Given the description of an element on the screen output the (x, y) to click on. 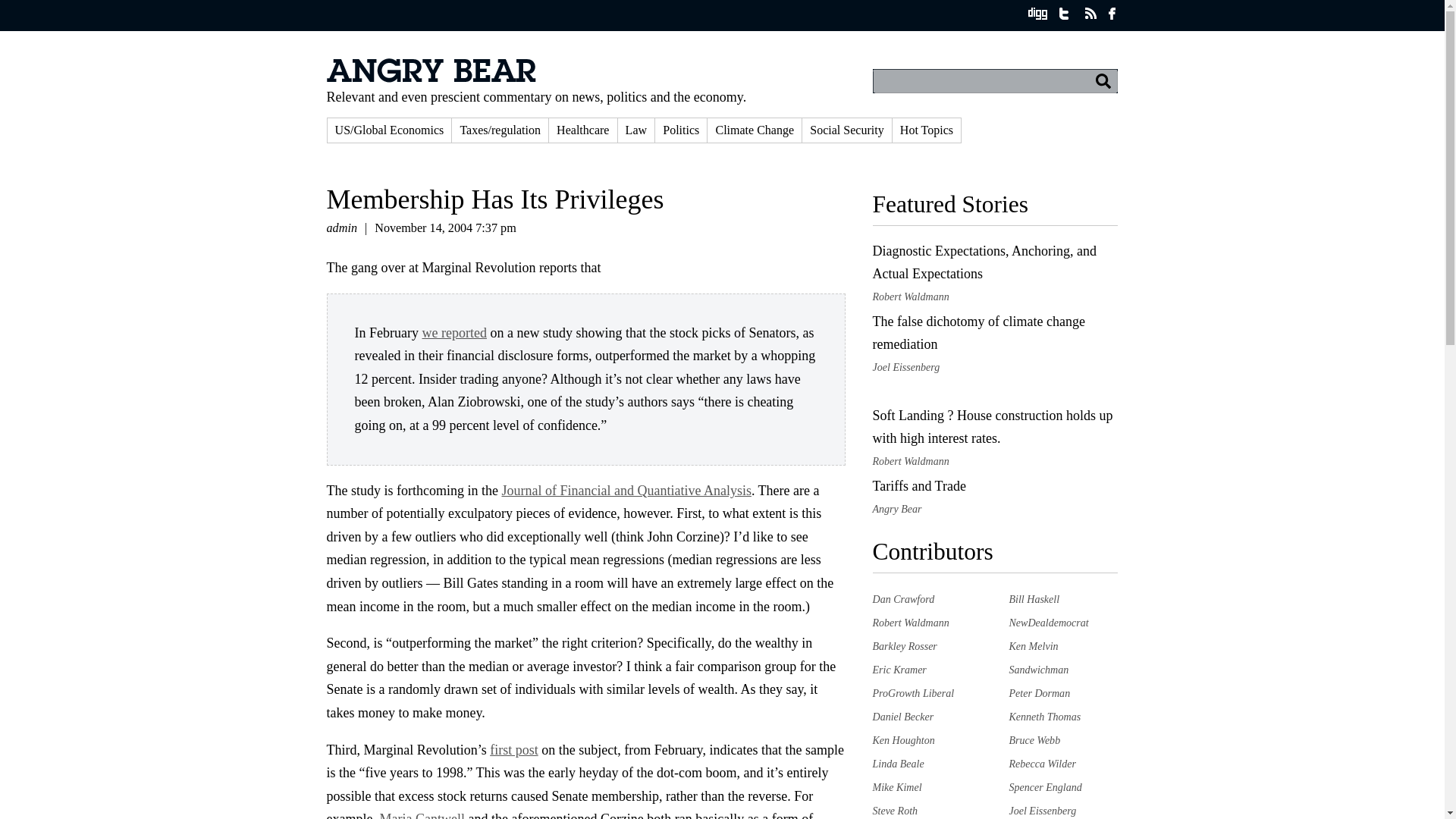
Tariffs and Trade (918, 485)
The false dichotomy of climate change remediation (978, 332)
Social Security (846, 129)
Daniel Becker (902, 716)
Journal of Financial and Quantiative Analysis (625, 490)
Robert Waldmann (910, 622)
Hot Topics (926, 129)
Politics (680, 129)
Dan Crawford (903, 598)
